Given the description of an element on the screen output the (x, y) to click on. 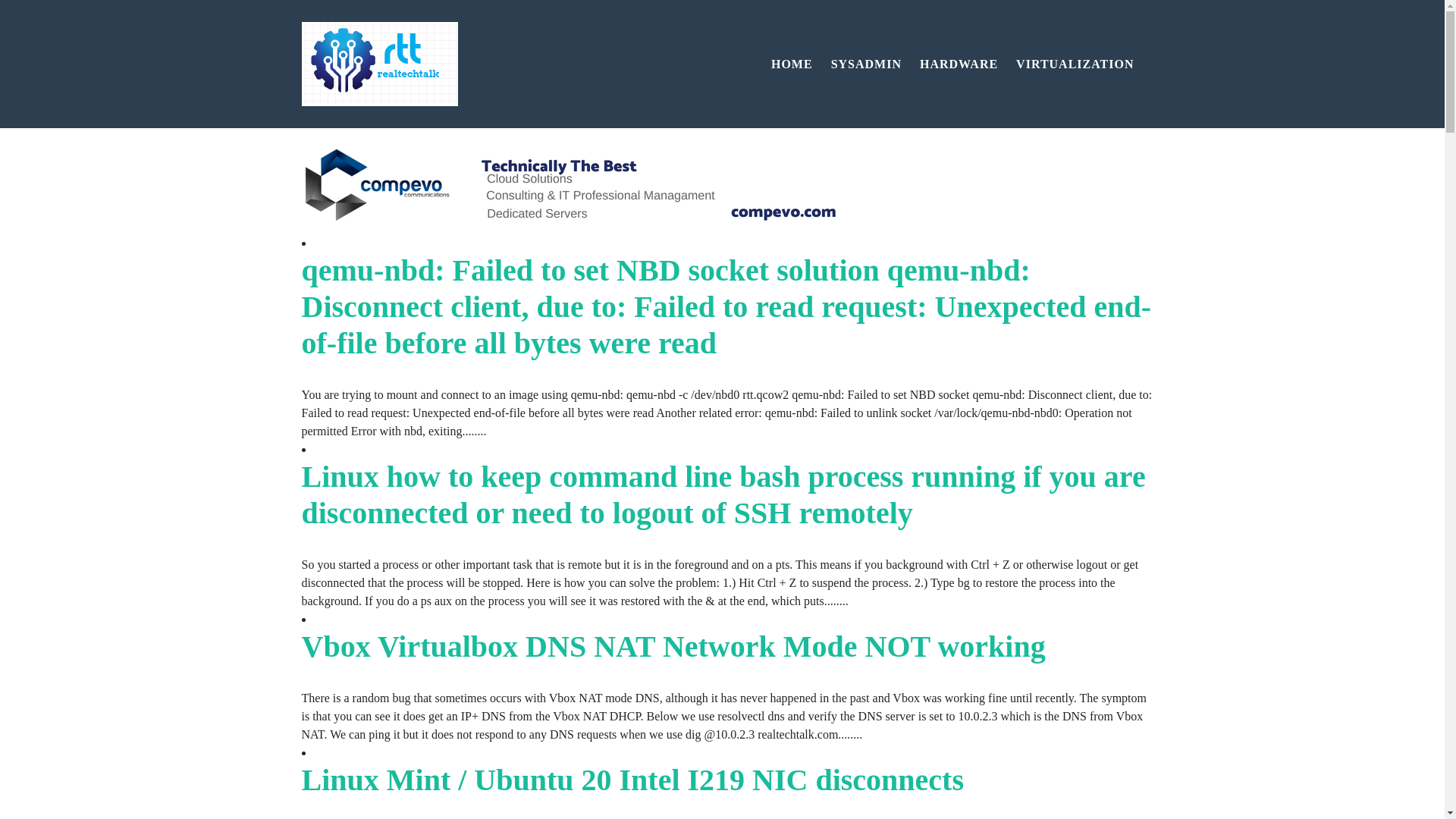
SYSADMIN (866, 63)
HOME (791, 63)
HARDWARE (959, 63)
SYSADMIN (866, 63)
HARDWARE (959, 63)
VIRTUALIZATION (1075, 63)
VIRTUALIZATION (1075, 63)
HOME (791, 63)
Vbox Virtualbox DNS NAT Network Mode NOT working (673, 646)
